Given the description of an element on the screen output the (x, y) to click on. 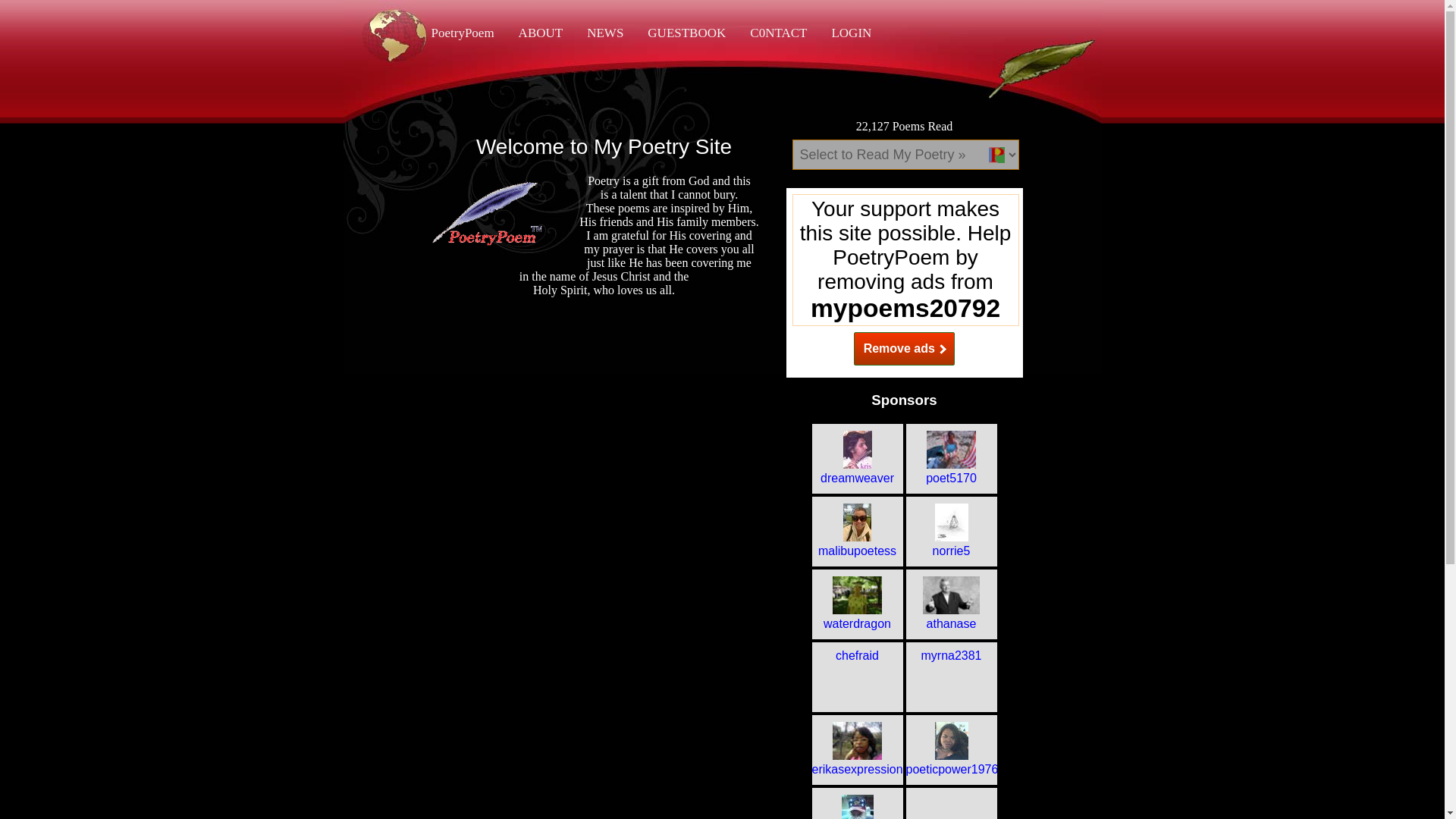
poeticpower1976 (950, 762)
myrna2381 (950, 655)
PoetryPoem (462, 33)
dreamweaver (856, 471)
chefraid (856, 655)
Remove ads (904, 348)
C0NTACT (778, 33)
GUESTBOOK (686, 33)
ABOUT (540, 33)
erikasexpressionexperiment (856, 762)
athanase (950, 616)
malibupoetess (856, 543)
waterdragon (856, 616)
LOGIN (850, 33)
